Given the description of an element on the screen output the (x, y) to click on. 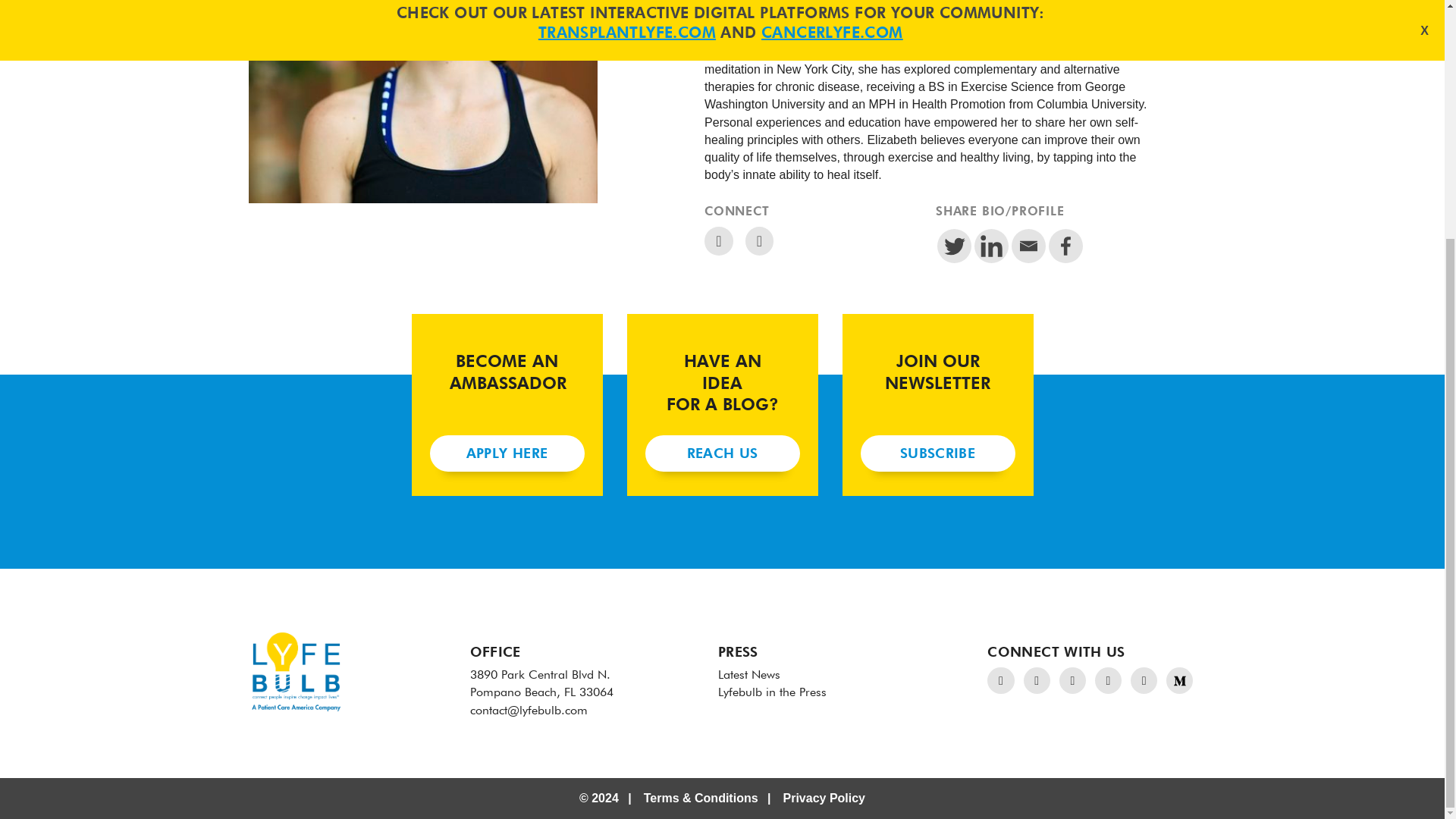
Privacy Policy (823, 797)
Facebook (1065, 245)
Email (1028, 245)
Twitter (954, 245)
Linkedin (991, 245)
